Given the description of an element on the screen output the (x, y) to click on. 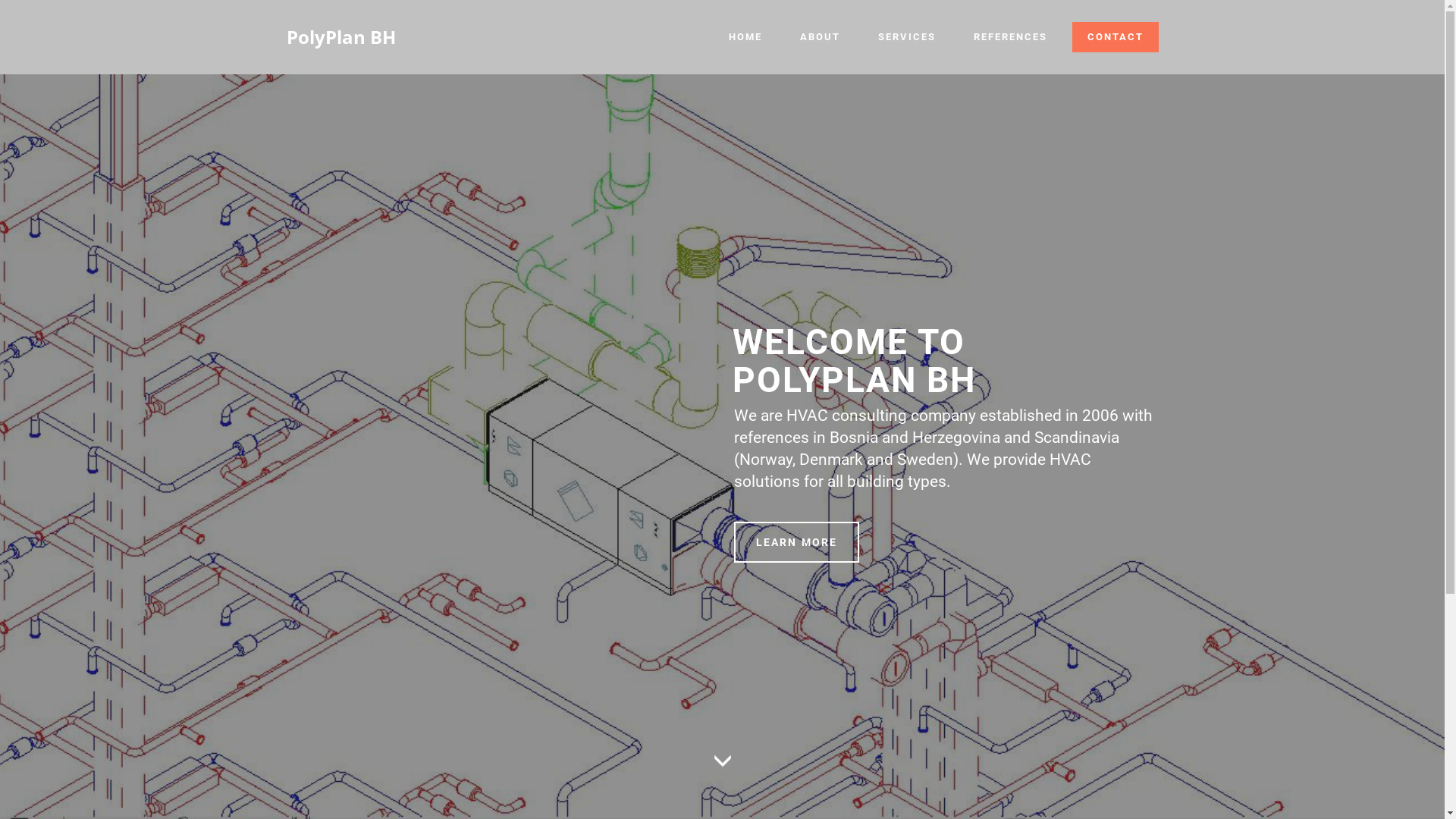
ABOUT Element type: text (819, 36)
REFERENCES Element type: text (1010, 36)
LEARN MORE Element type: text (796, 542)
SERVICES Element type: text (906, 36)
CONTACT Element type: text (1115, 37)
PolyPlan BH Element type: text (340, 37)
HOME Element type: text (744, 36)
